Given the description of an element on the screen output the (x, y) to click on. 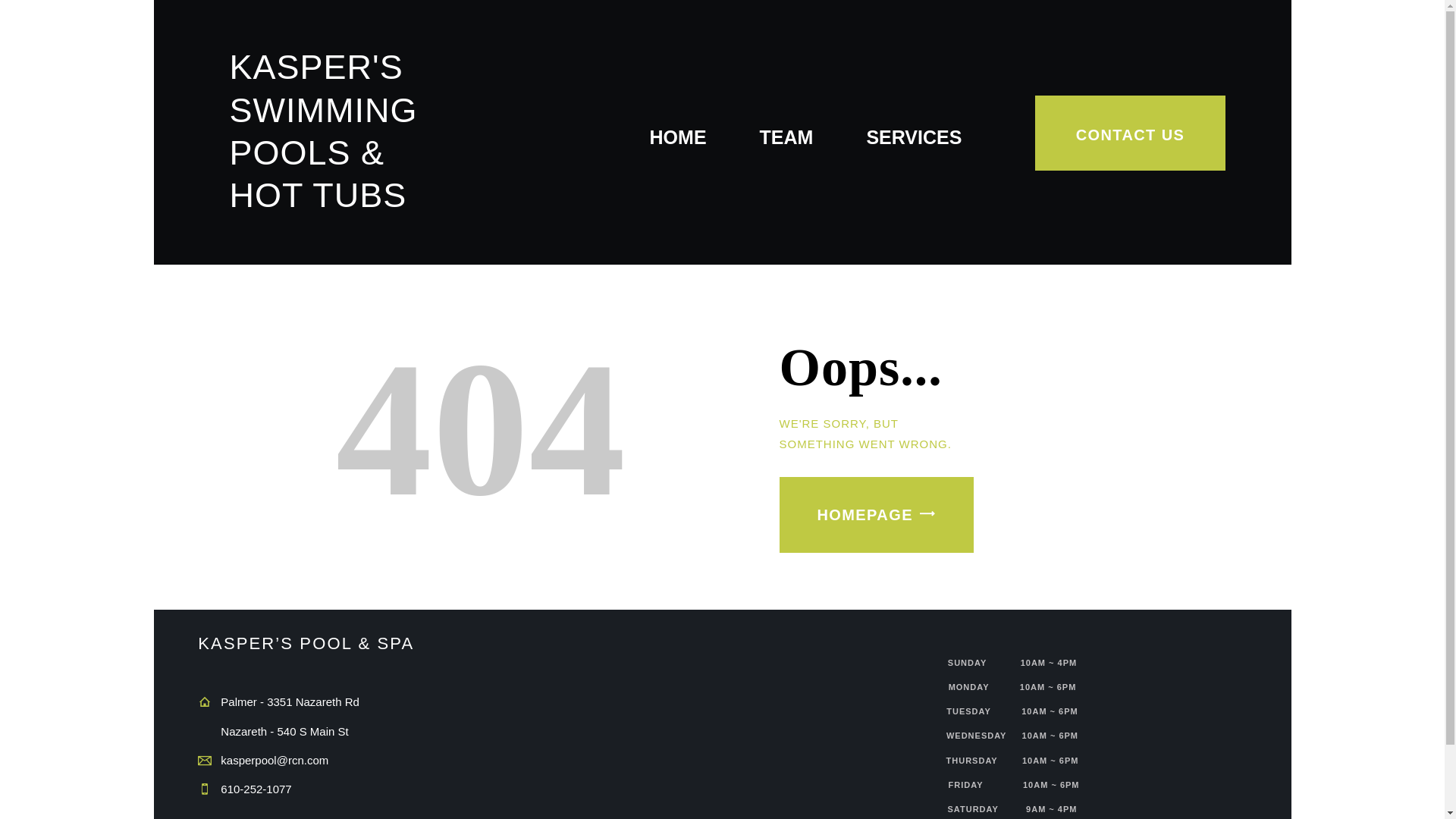
SERVICES (913, 138)
CONTACT US (1130, 132)
610-252-1077 (256, 788)
HOME (677, 138)
HOMEPAGE (876, 514)
TEAM (786, 138)
